Given the description of an element on the screen output the (x, y) to click on. 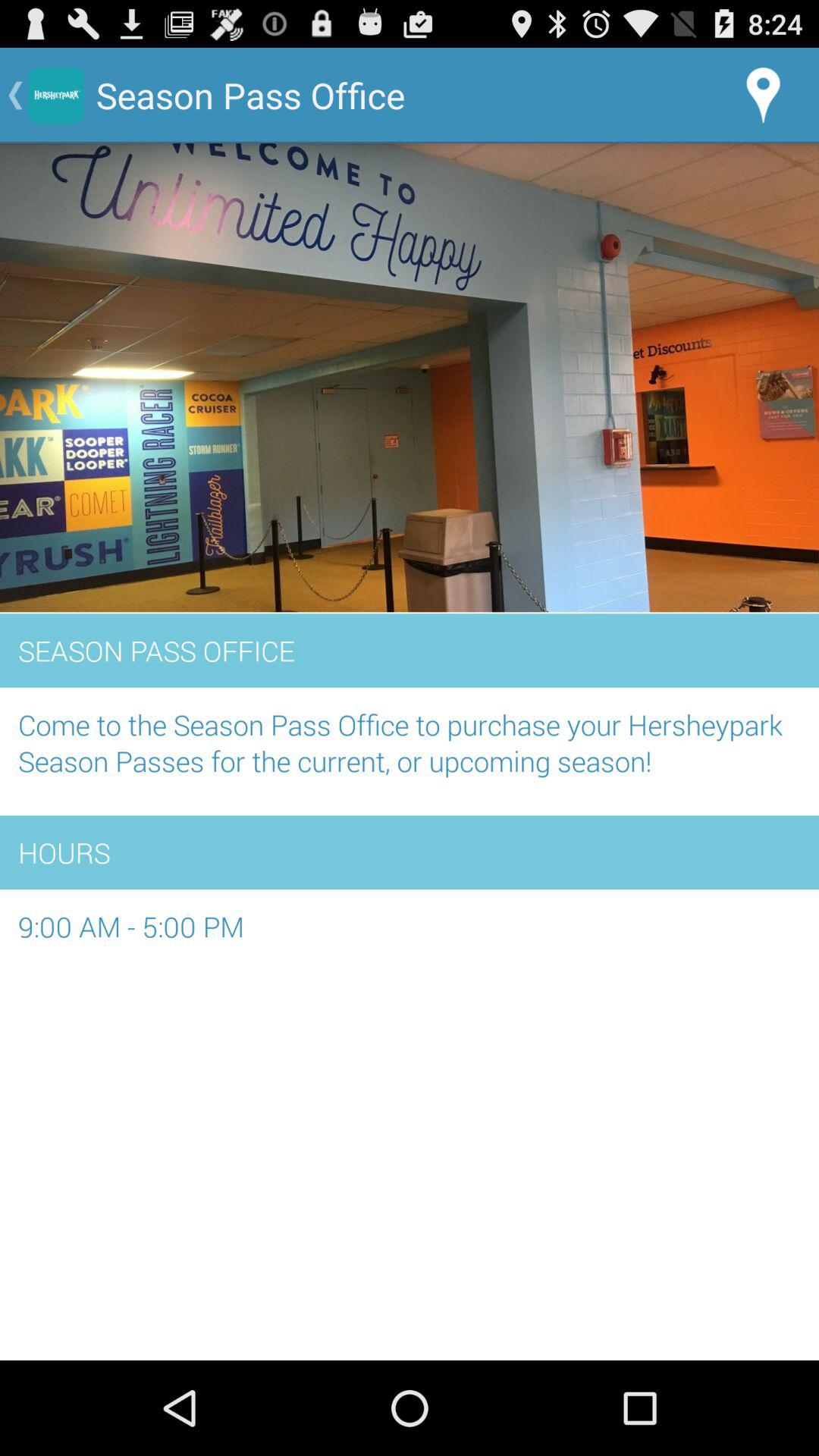
select the item below season pass office item (409, 751)
